Given the description of an element on the screen output the (x, y) to click on. 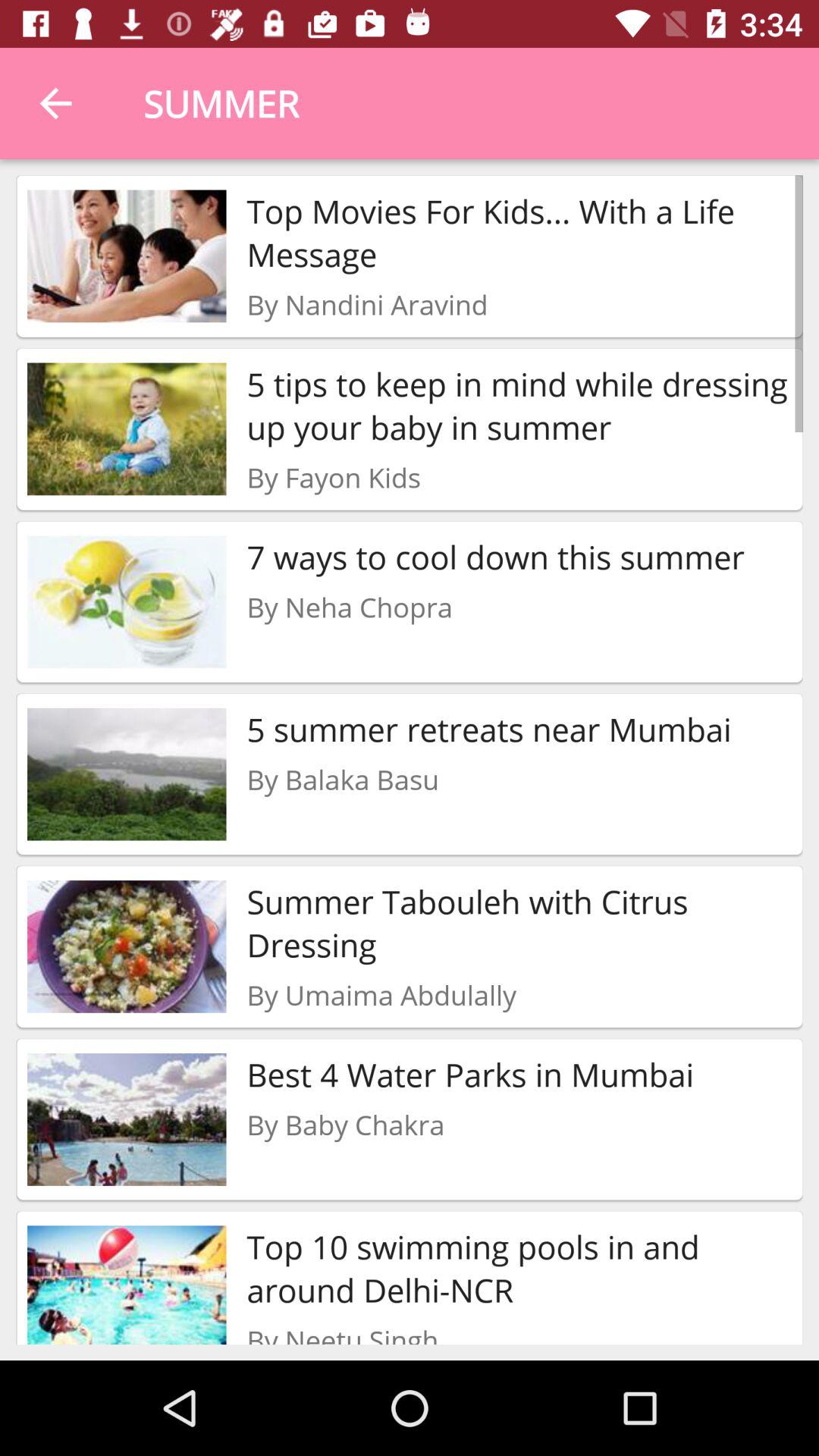
turn on icon above the 7 ways to (333, 476)
